Given the description of an element on the screen output the (x, y) to click on. 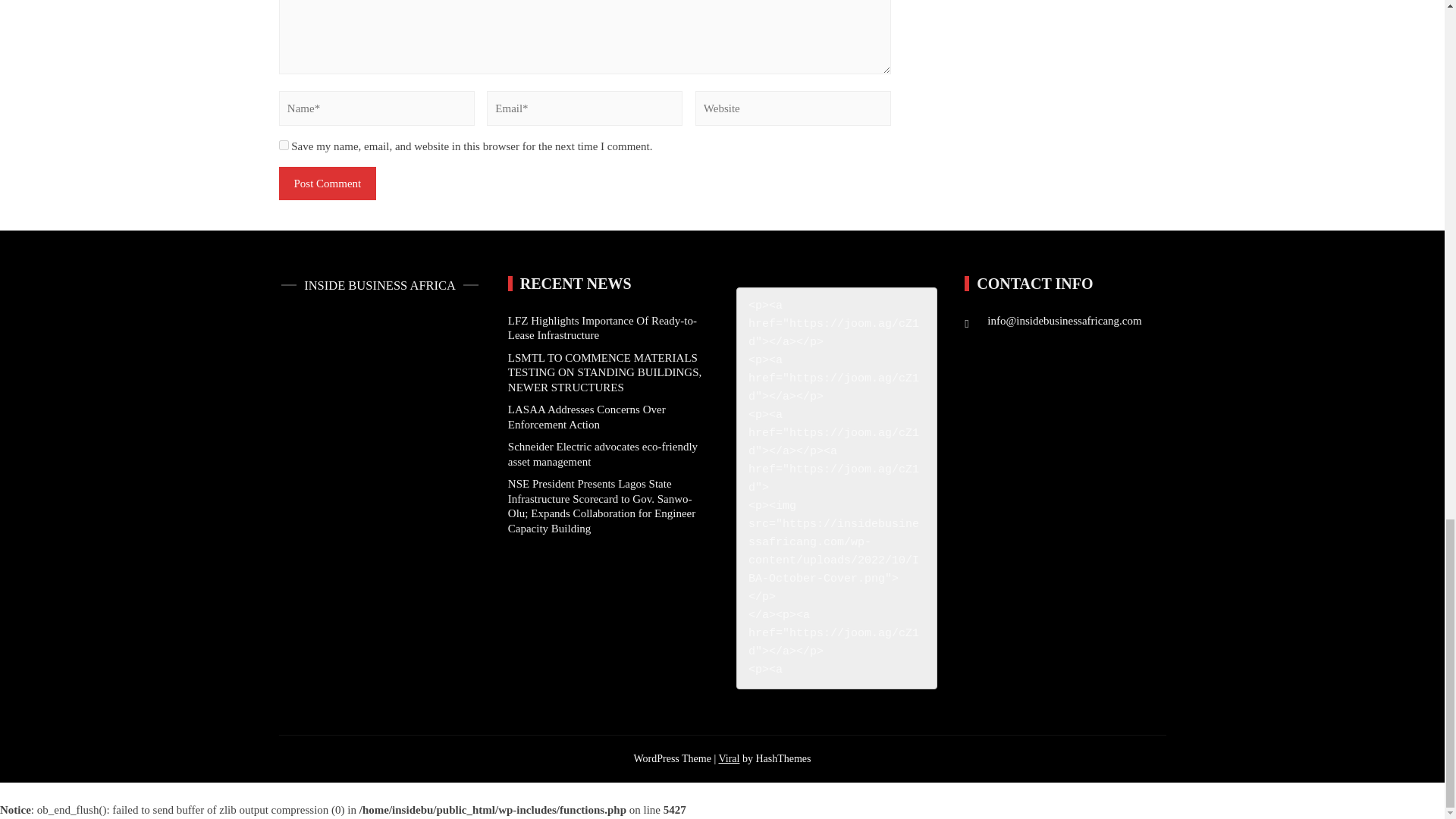
LFZ Highlights Importance Of Ready-to-Lease Infrastructure (602, 328)
LASAA Addresses Concerns Over Enforcement Action (586, 416)
Download Viral (728, 758)
Post Comment (328, 183)
Viral (728, 758)
Schneider Electric advocates eco-friendly asset management (602, 453)
Post Comment (328, 183)
yes (283, 144)
